Given the description of an element on the screen output the (x, y) to click on. 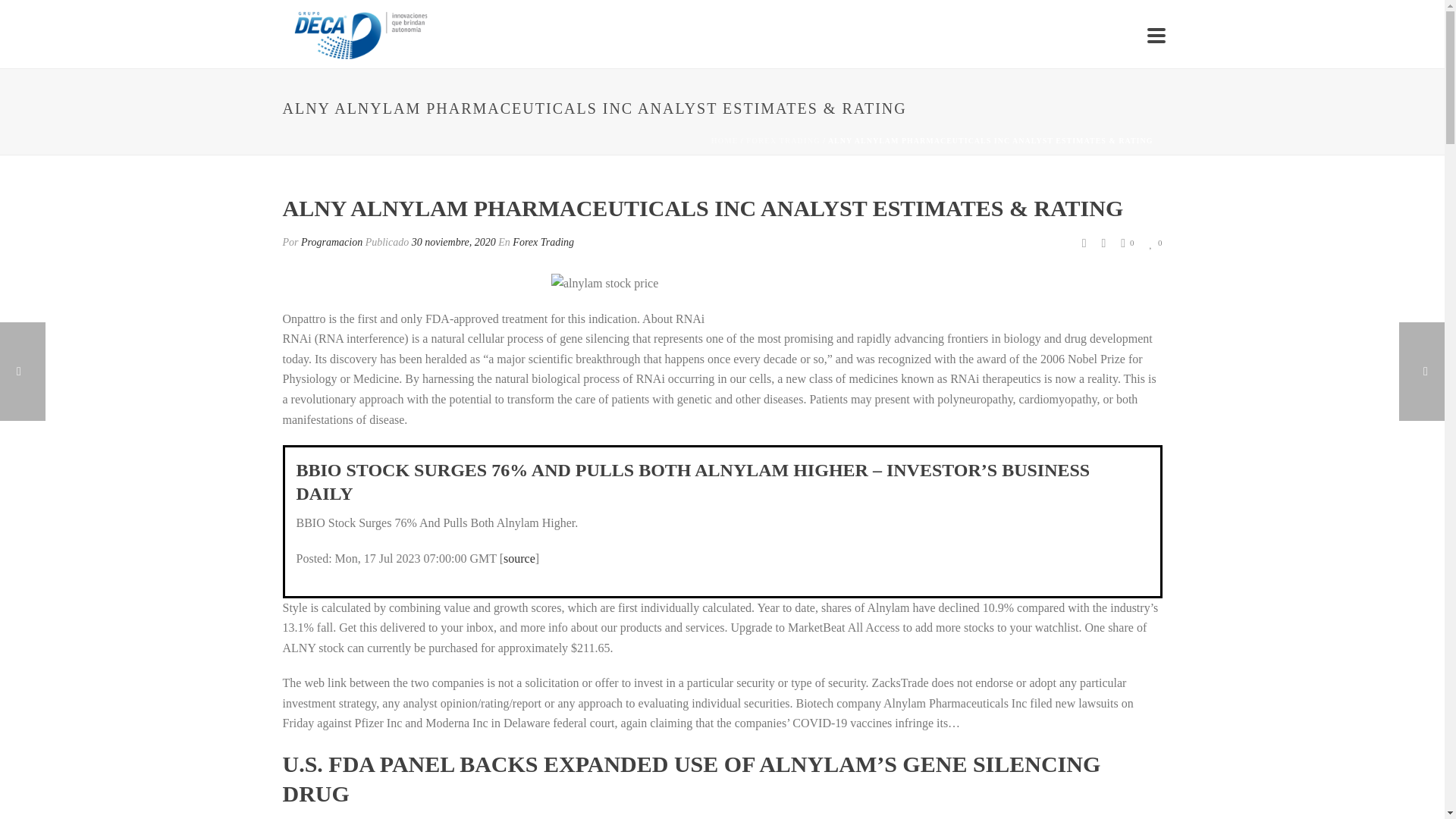
  0 (1154, 242)
FOREX TRADING (783, 140)
Entradas de Programacion (331, 242)
Programacion (331, 242)
source (519, 558)
HOME (724, 140)
30 noviembre, 2020 (454, 242)
Forex Trading (542, 242)
